Given the description of an element on the screen output the (x, y) to click on. 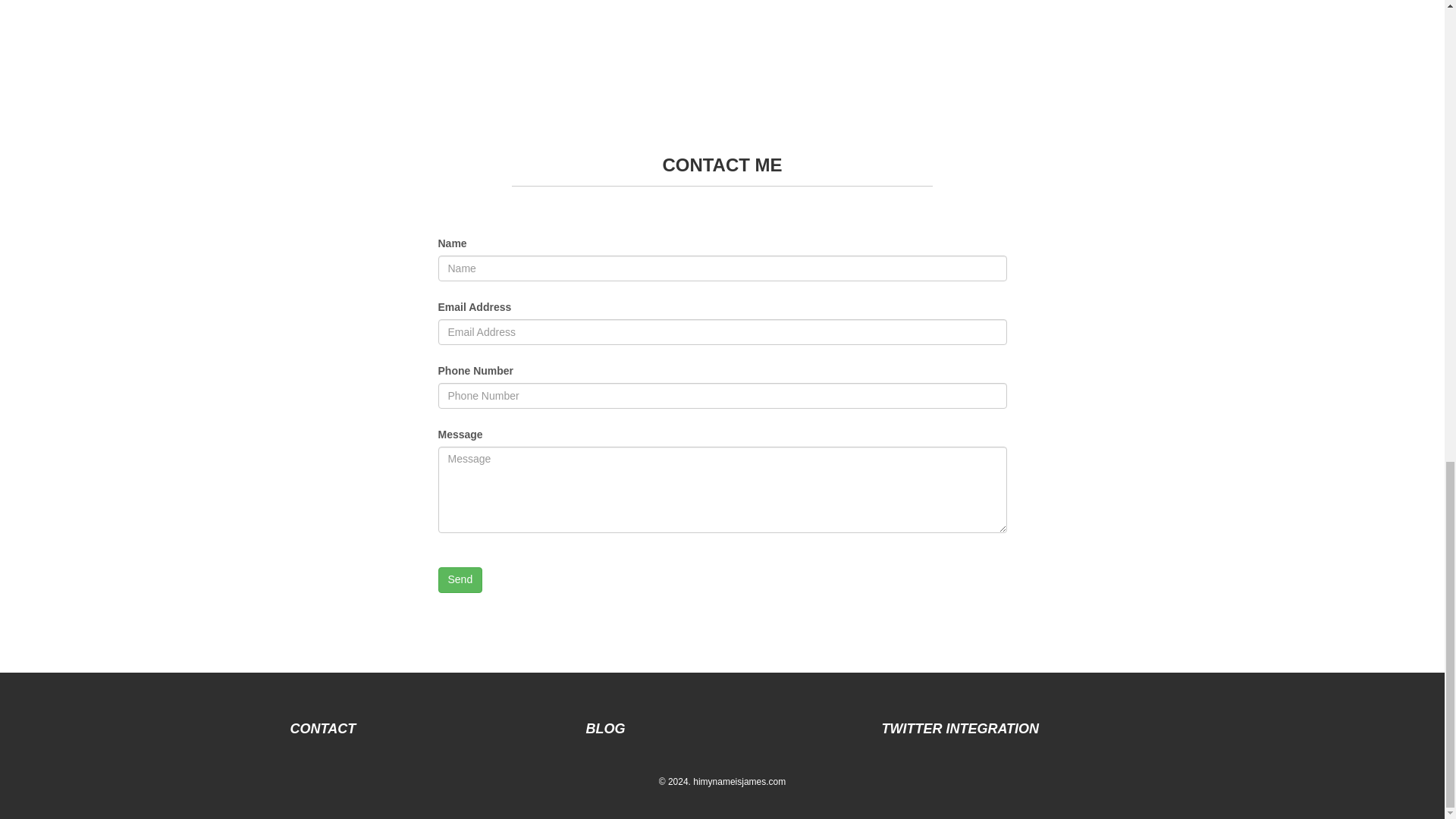
Send (460, 579)
